Given the description of an element on the screen output the (x, y) to click on. 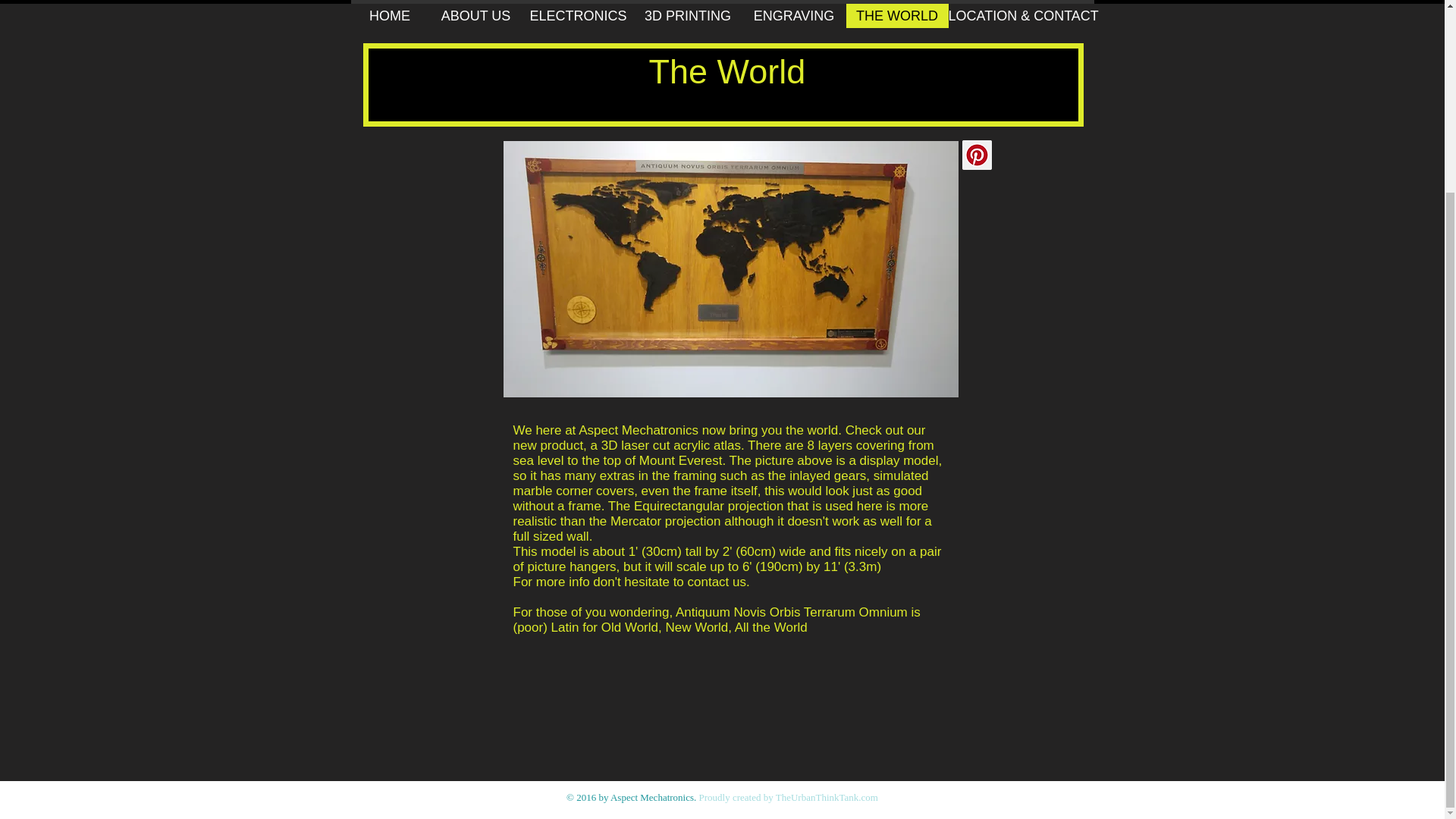
THE WORLD (897, 15)
ABOUT US (475, 15)
HOME (389, 15)
3D PRINTING (687, 15)
ELECTRONICS (577, 15)
TheUrbanThinkTank.com (826, 797)
ENGRAVING (793, 15)
